Given the description of an element on the screen output the (x, y) to click on. 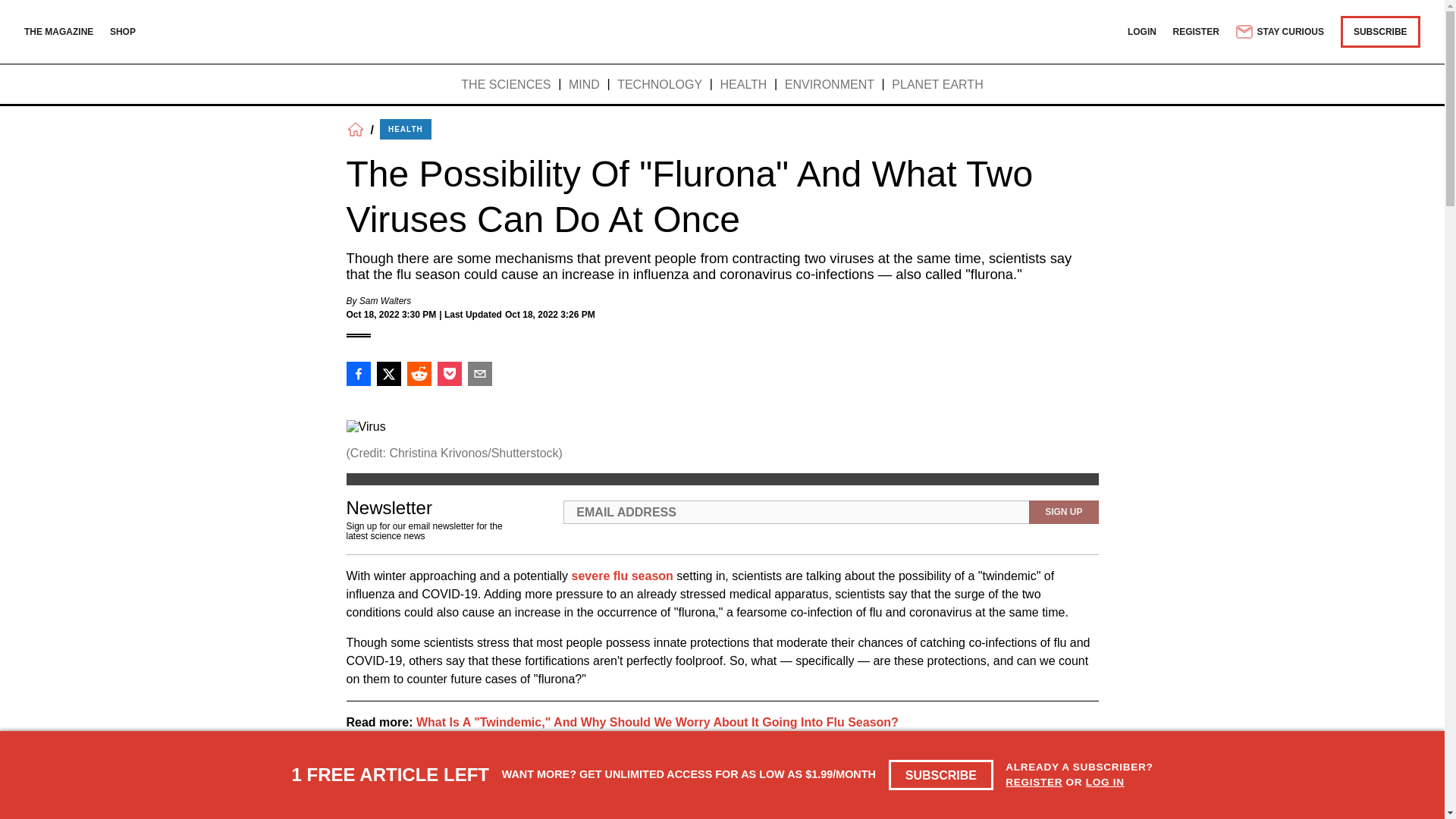
THE MAGAZINE (58, 31)
severe flu season (622, 575)
SHOP (122, 31)
STAY CURIOUS (1278, 31)
ENVIRONMENT (829, 84)
MIND (584, 84)
TECHNOLOGY (659, 84)
HEALTH (405, 128)
Sam Walters (384, 300)
PLANET EARTH (936, 84)
